Given the description of an element on the screen output the (x, y) to click on. 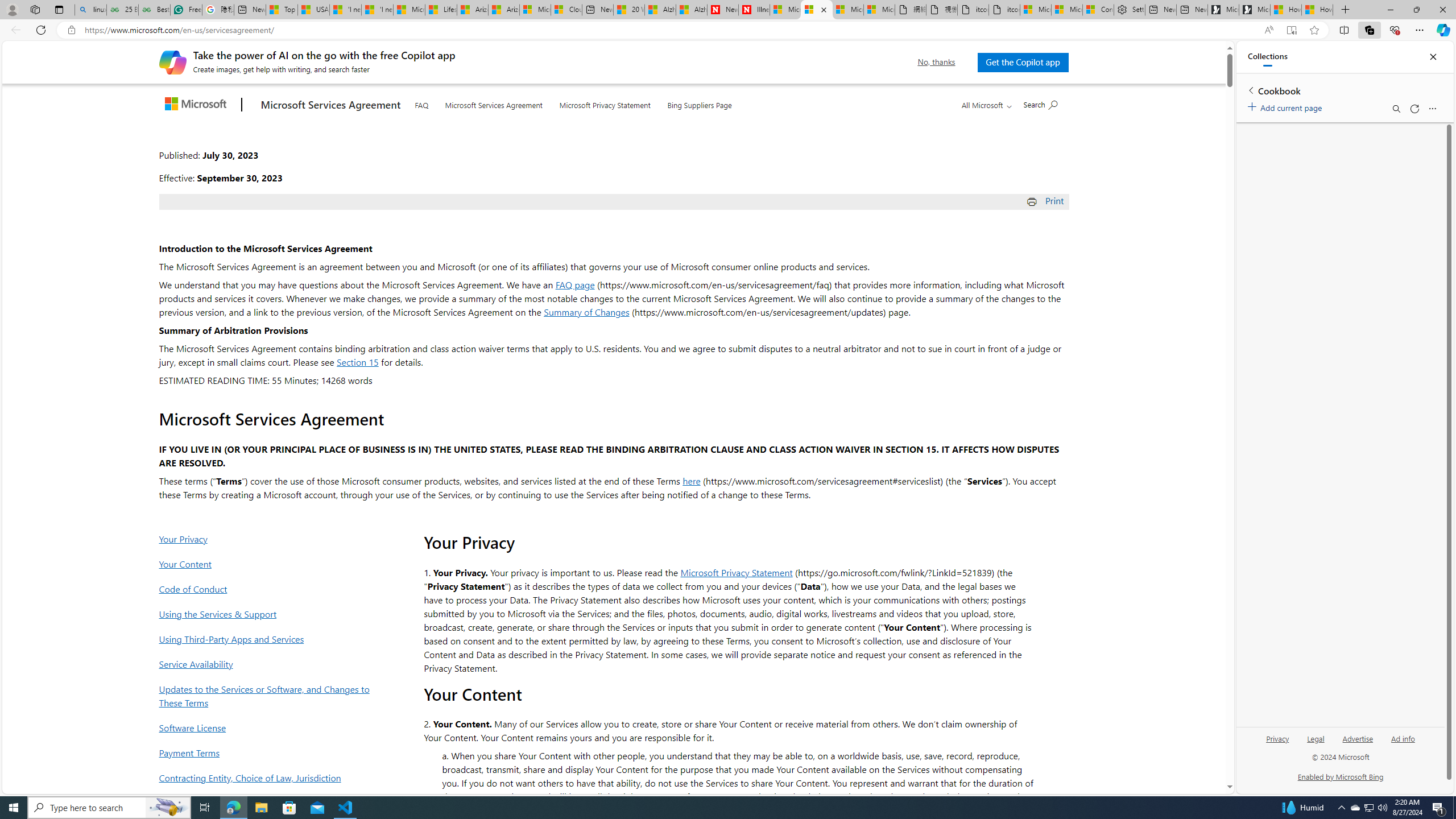
Address and search bar (669, 29)
USA TODAY - MSN (313, 9)
Back to list of collections (1250, 90)
Create images, get help with writing, and search faster (172, 62)
Best SSL Certificates Provider in India - GeeksforGeeks (153, 9)
linux basic - Search (90, 9)
Legal (1315, 738)
Microsoft (197, 105)
Microsoft Services Agreement (493, 103)
No, thanks (936, 62)
